Given the description of an element on the screen output the (x, y) to click on. 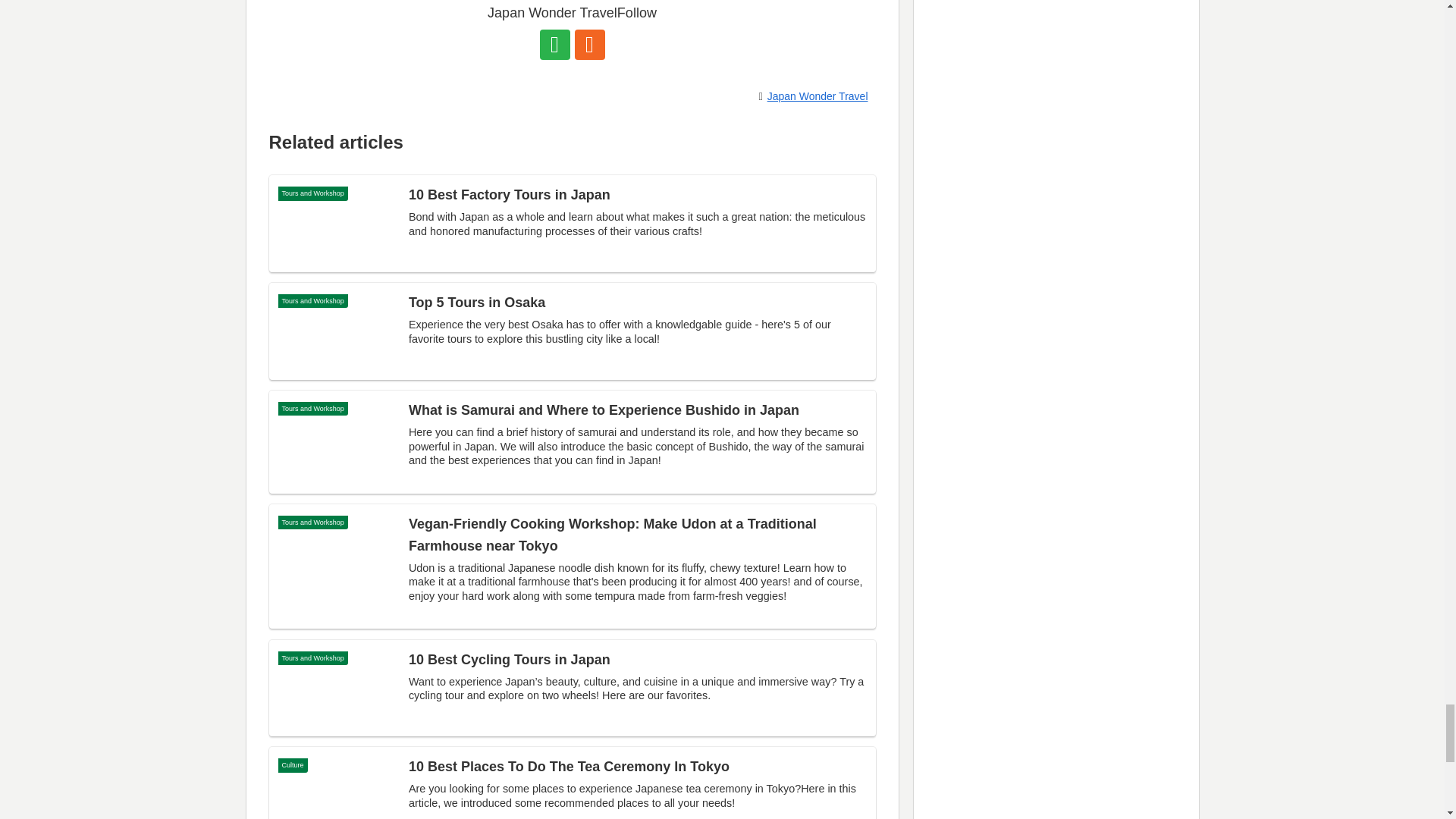
Subscribe updates by RSS (590, 44)
10 Best Cycling Tours in Japan (571, 687)
Subscribe to feedly (555, 44)
What is Samurai and Where to Experience Bushido in Japan (571, 441)
10 Best Places To Do The Tea Ceremony In Tokyo (571, 782)
10 Best Factory Tours in Japan (571, 223)
Top 5 Tours in Osaka (571, 330)
